Given the description of an element on the screen output the (x, y) to click on. 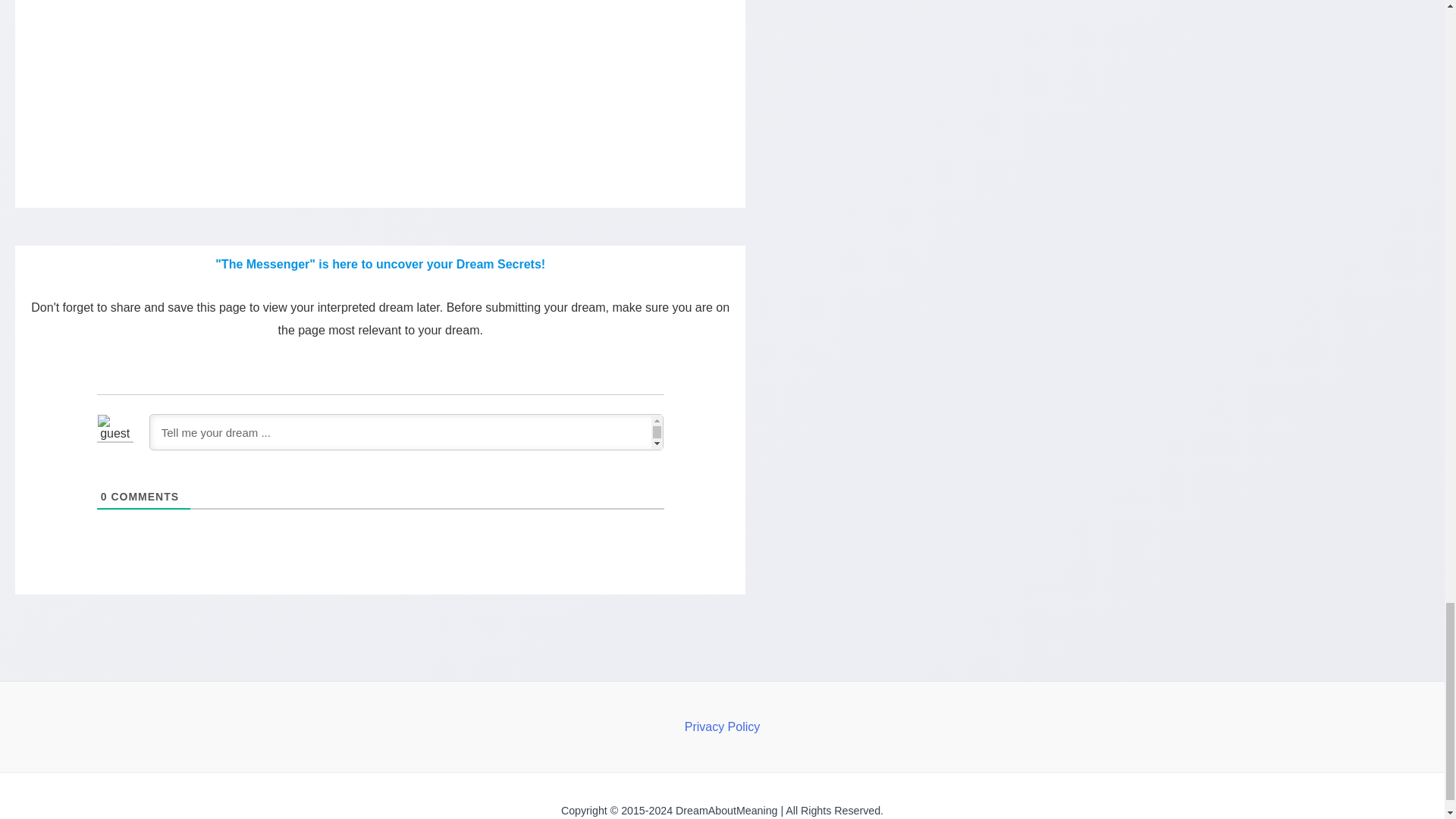
Advertisement (380, 68)
Privacy Policy (722, 726)
